Given the description of an element on the screen output the (x, y) to click on. 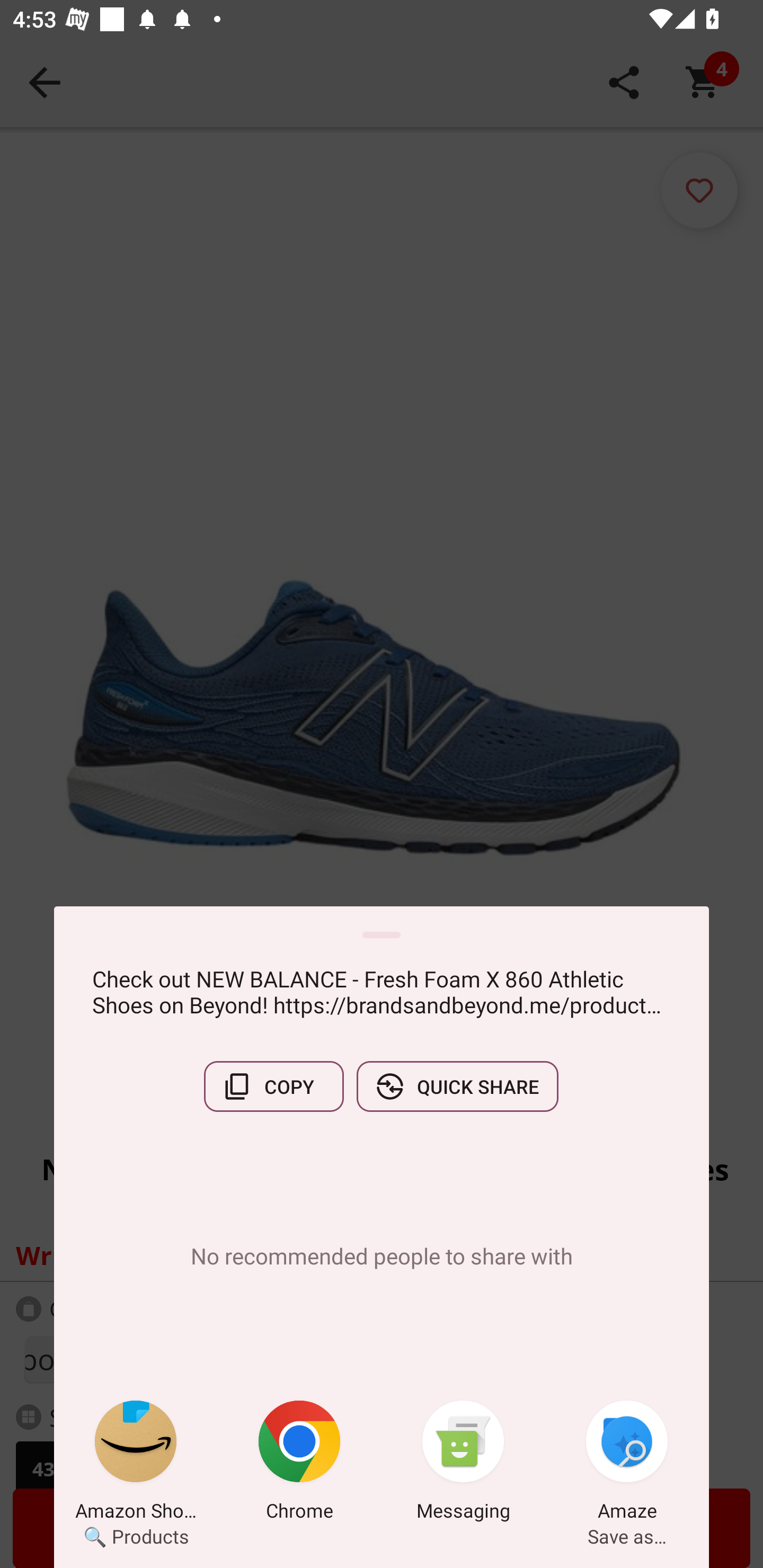
COPY (273, 1086)
QUICK SHARE (457, 1086)
Amazon Shopping 🔍 Products (135, 1463)
Chrome (299, 1463)
Messaging (463, 1463)
Amaze Save as… (626, 1463)
